Given the description of an element on the screen output the (x, y) to click on. 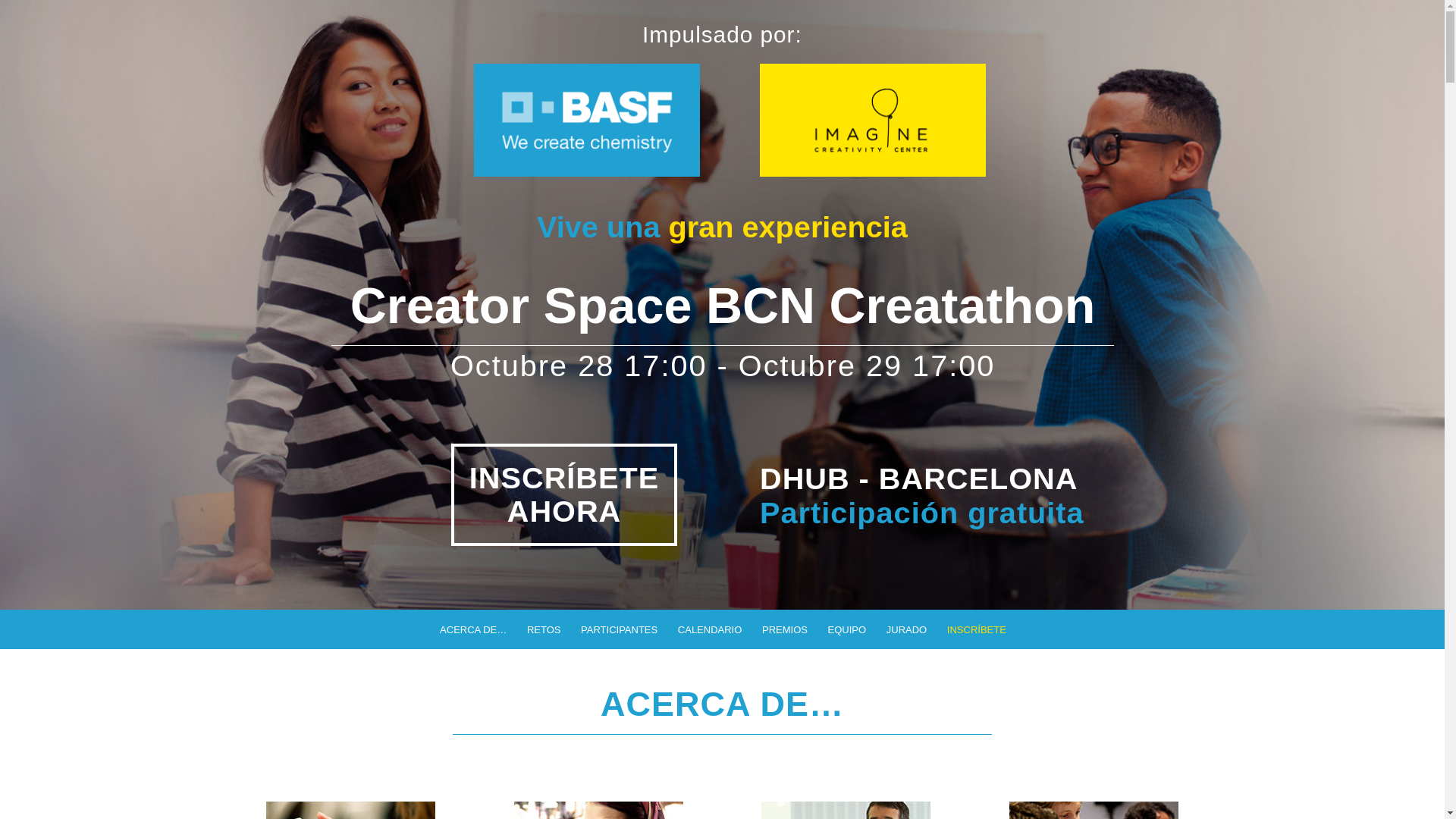
CALENDARIO Element type: text (708, 629)
PREMIOS Element type: text (783, 629)
RETOS Element type: text (542, 629)
PARTICIPANTES Element type: text (618, 629)
JURADO Element type: text (905, 629)
EQUIPO Element type: text (846, 629)
